Given the description of an element on the screen output the (x, y) to click on. 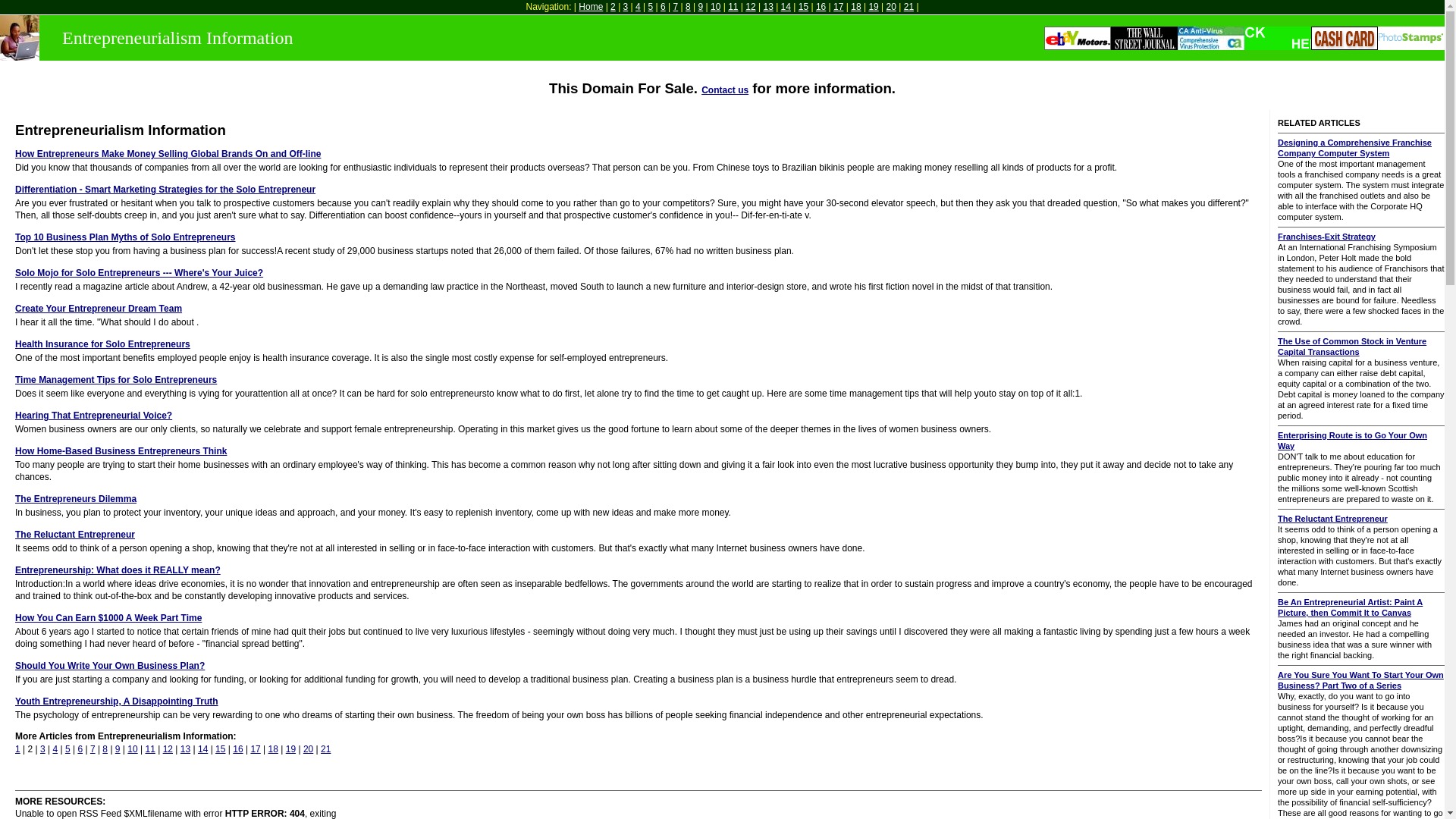
11 (733, 6)
Home (590, 6)
20 (891, 6)
17 (837, 6)
19 (872, 6)
12 (750, 6)
18 (855, 6)
21 (909, 6)
Top 10 Business Plan Myths of Solo Entrepreneurs (124, 236)
